Given the description of an element on the screen output the (x, y) to click on. 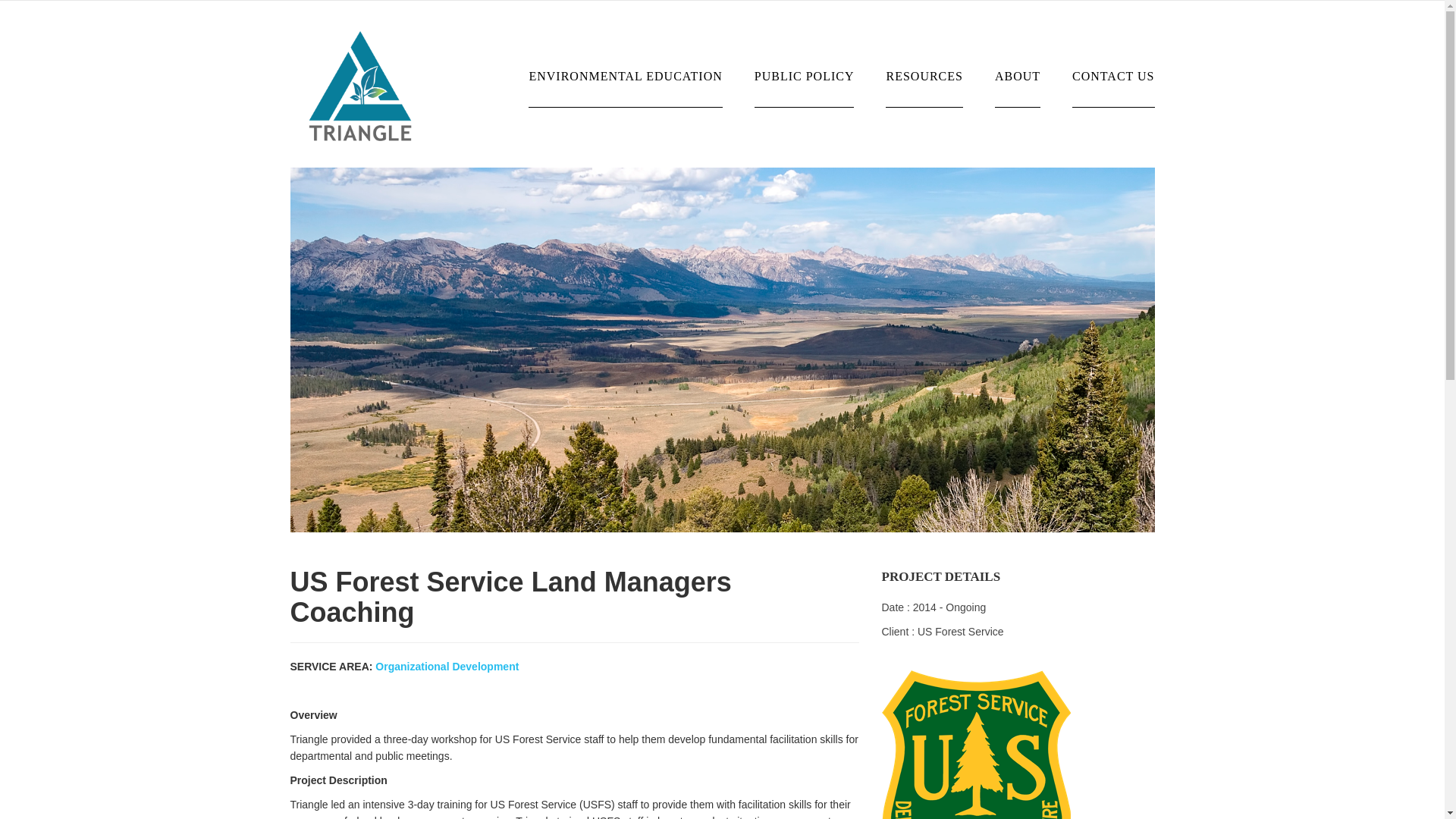
US Forest Service Land Managers Coaching (721, 348)
ENVIRONMENTAL EDUCATION (625, 65)
Triangle Associates (359, 83)
PUBLIC POLICY (804, 65)
